Given the description of an element on the screen output the (x, y) to click on. 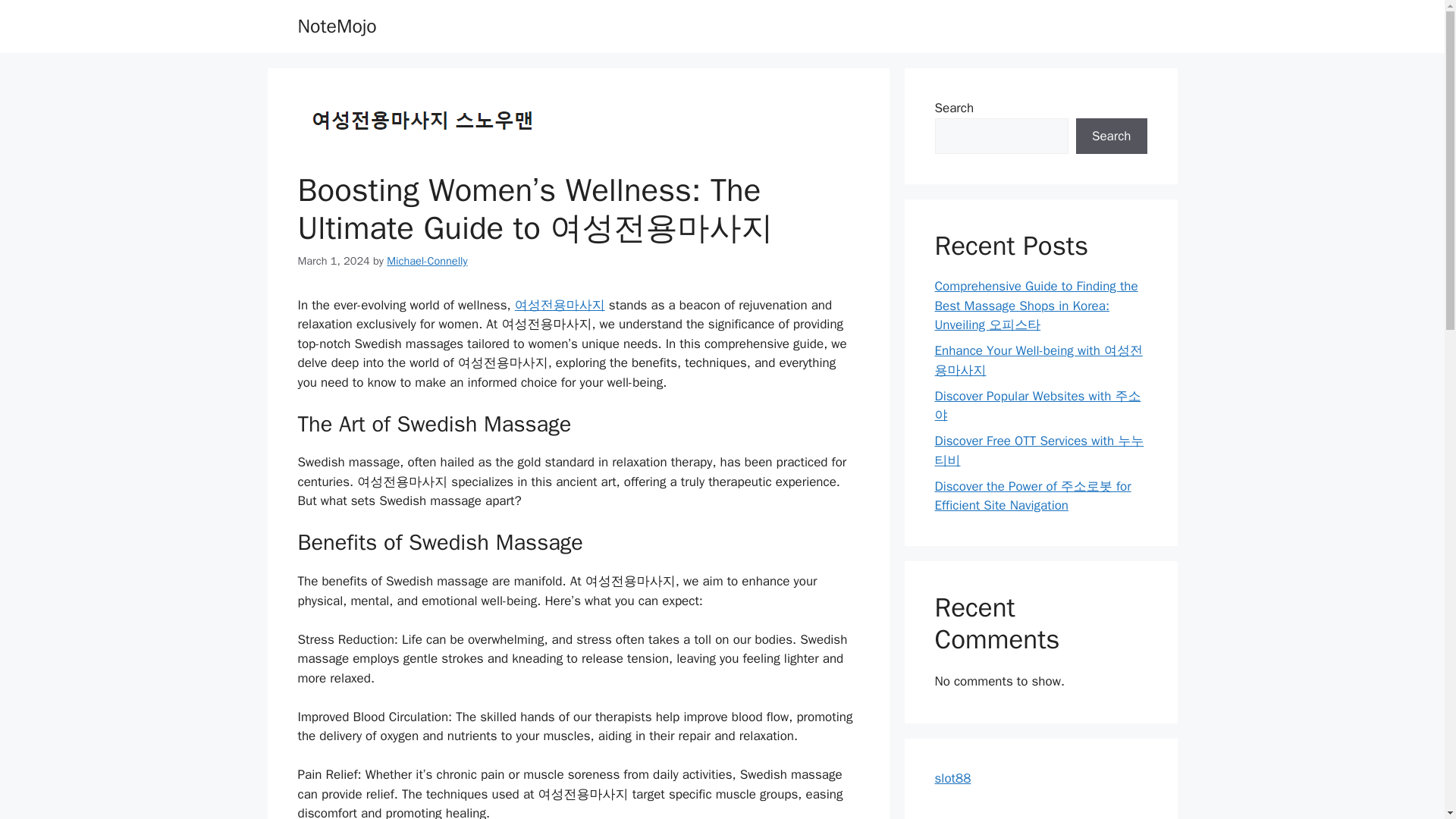
Search (1111, 135)
slot88 (952, 778)
Michael-Connelly (427, 260)
View all posts by Michael-Connelly (427, 260)
NoteMojo (336, 25)
